Given the description of an element on the screen output the (x, y) to click on. 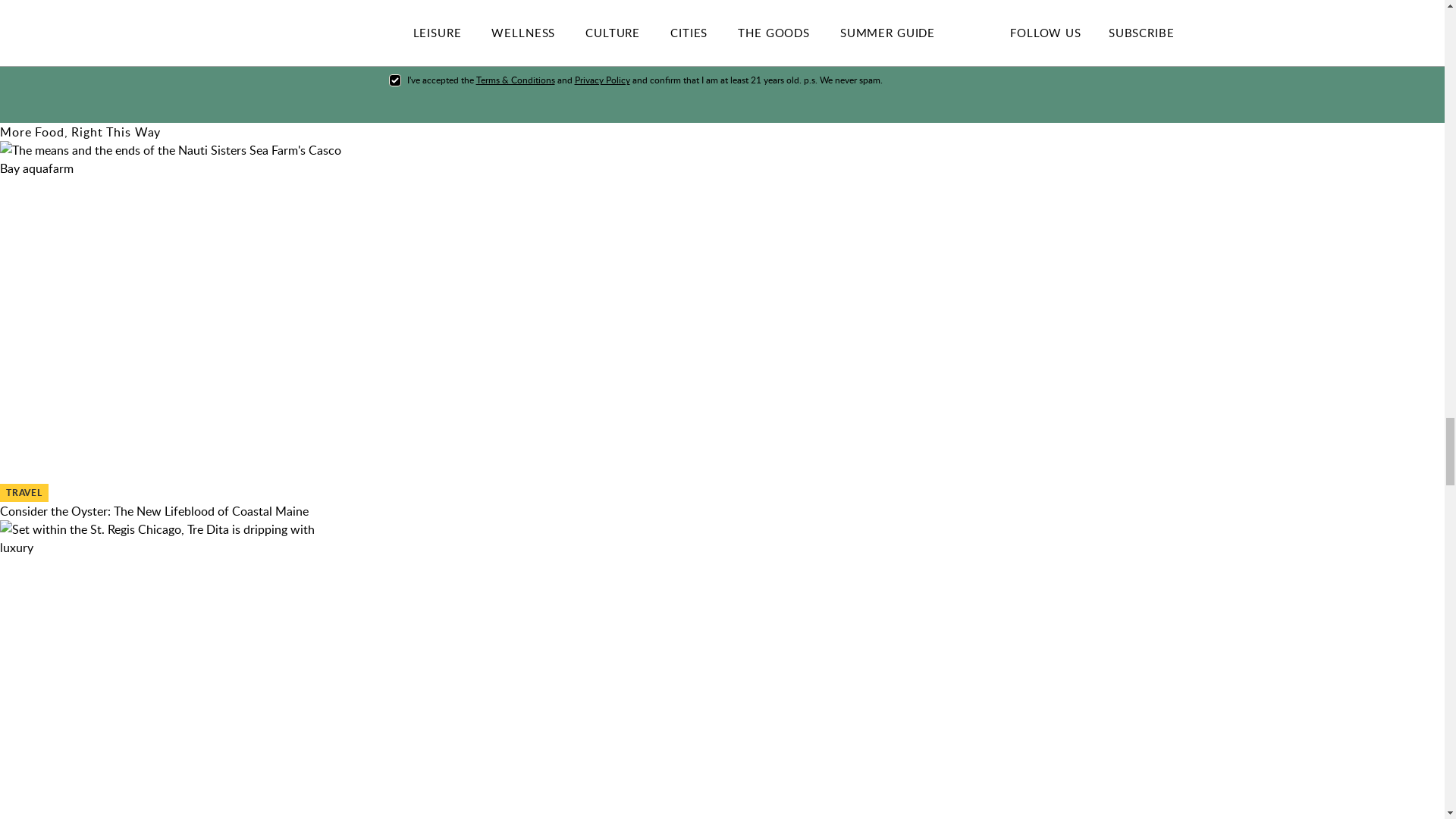
on (394, 80)
